Given the description of an element on the screen output the (x, y) to click on. 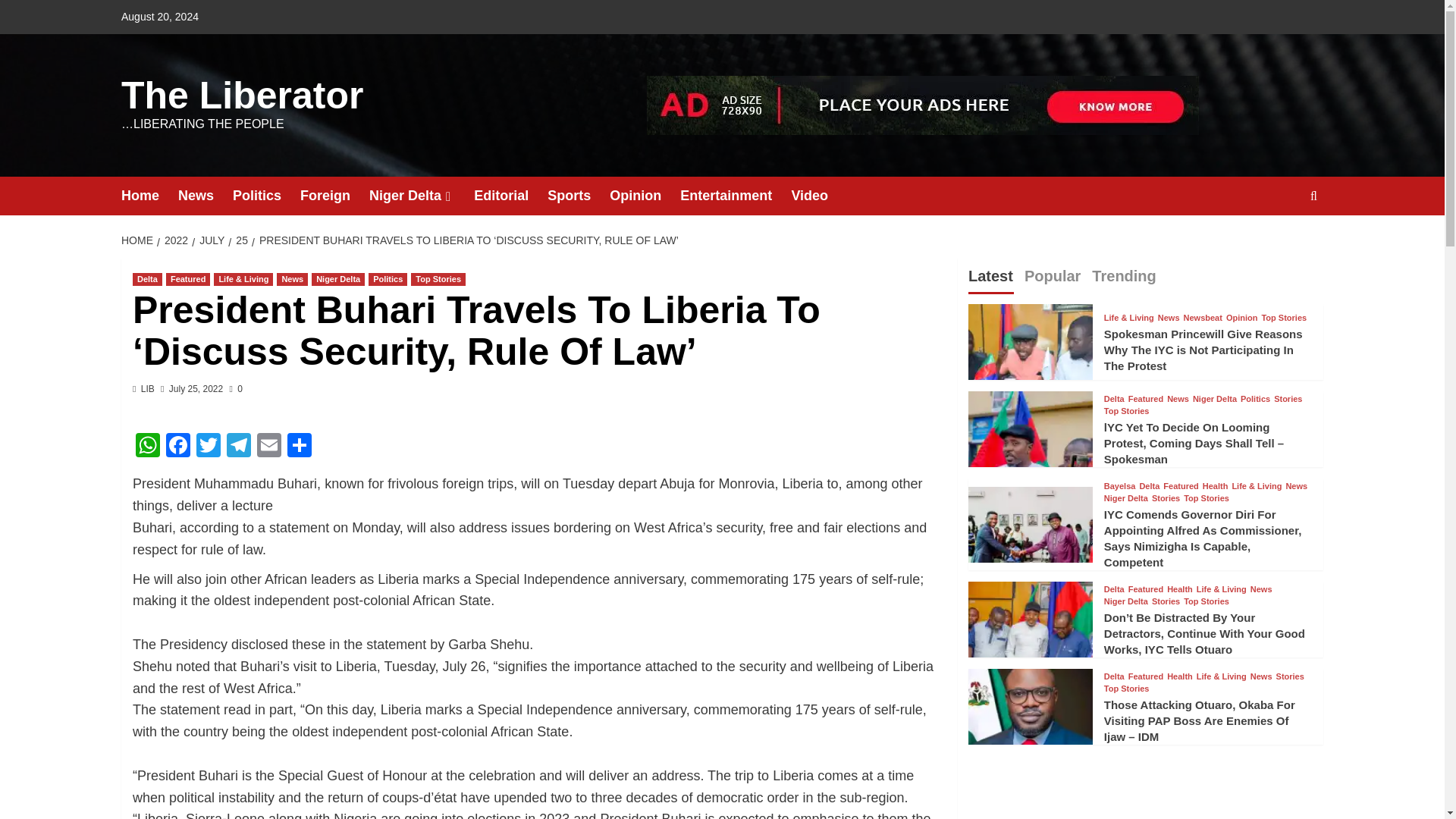
Telegram (238, 447)
Featured (187, 278)
Niger Delta (338, 278)
Delta (146, 278)
HOME (138, 240)
Politics (265, 195)
Opinion (644, 195)
Twitter (208, 447)
0 (236, 388)
Home (148, 195)
